Given the description of an element on the screen output the (x, y) to click on. 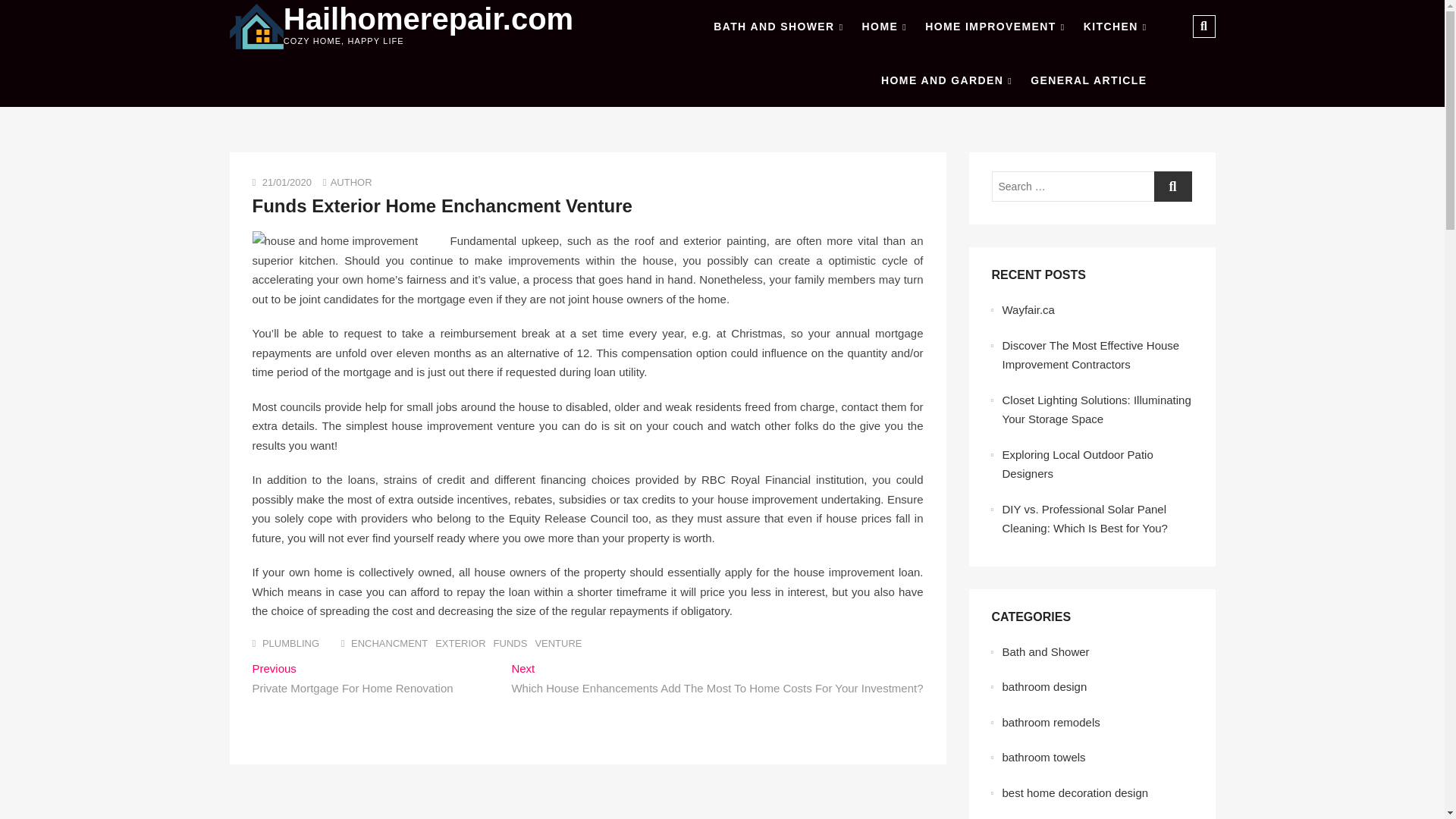
KITCHEN (1114, 27)
Hailhomerepair.com (428, 19)
Funds Exterior Home Enchancment Venture (441, 205)
HOME IMPROVEMENT (994, 27)
GENERAL ARTICLE (1088, 80)
Funds Exterior Home Enchancment Venture (441, 205)
AUTHOR (351, 182)
BATH AND SHOWER (778, 27)
Funds Exterior Home Enchancment Venture (351, 182)
HOME AND GARDEN (946, 80)
PLUMBLING (290, 643)
Hailhomerepair.com (428, 19)
HOME (884, 27)
